Given the description of an element on the screen output the (x, y) to click on. 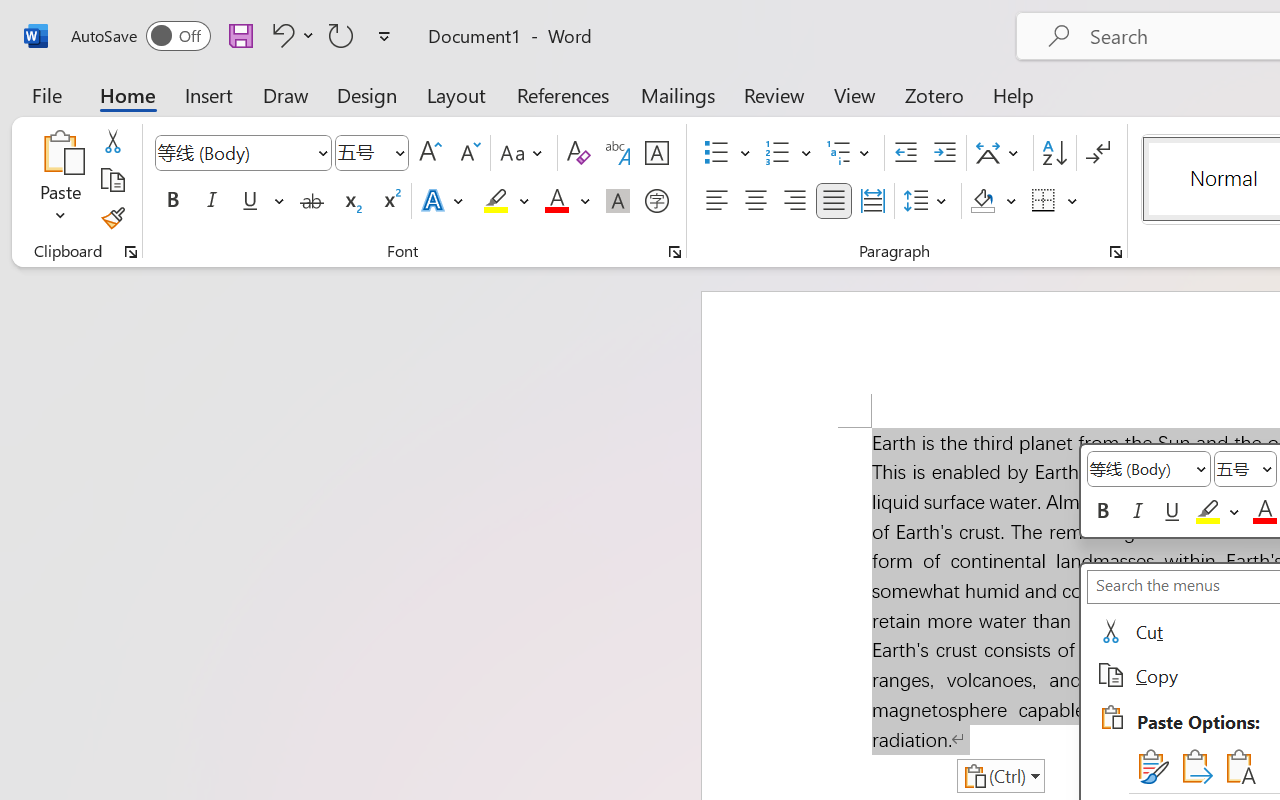
Center (756, 201)
Font Color (567, 201)
Align Left (716, 201)
Cut (112, 141)
Character Border (656, 153)
